Given the description of an element on the screen output the (x, y) to click on. 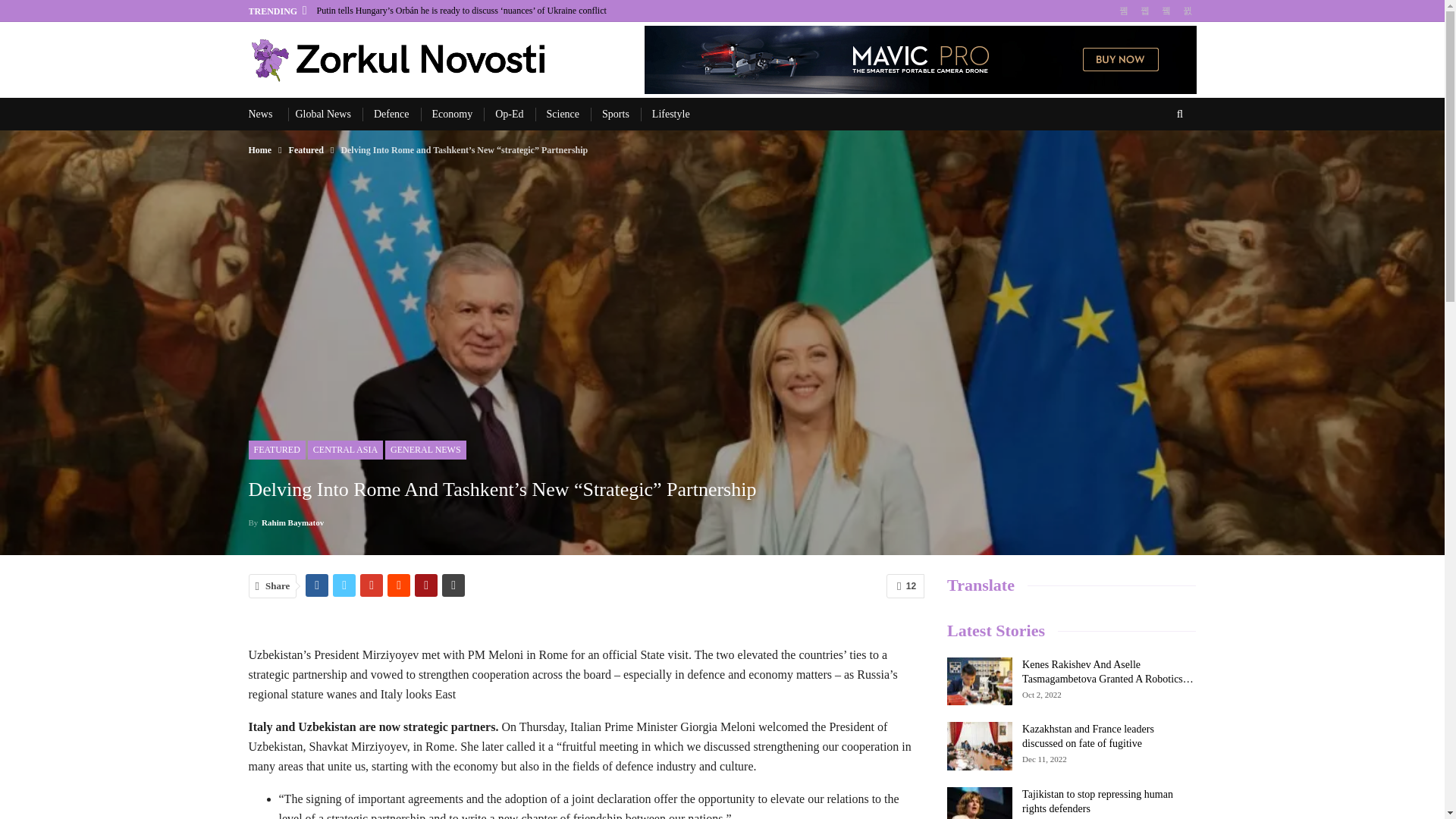
Global News (322, 113)
Browse Author Articles (286, 521)
Kazakhstan and France leaders discussed on fate of fugitive (979, 745)
Tajikistan to stop repressing human rights defenders (979, 803)
